Given the description of an element on the screen output the (x, y) to click on. 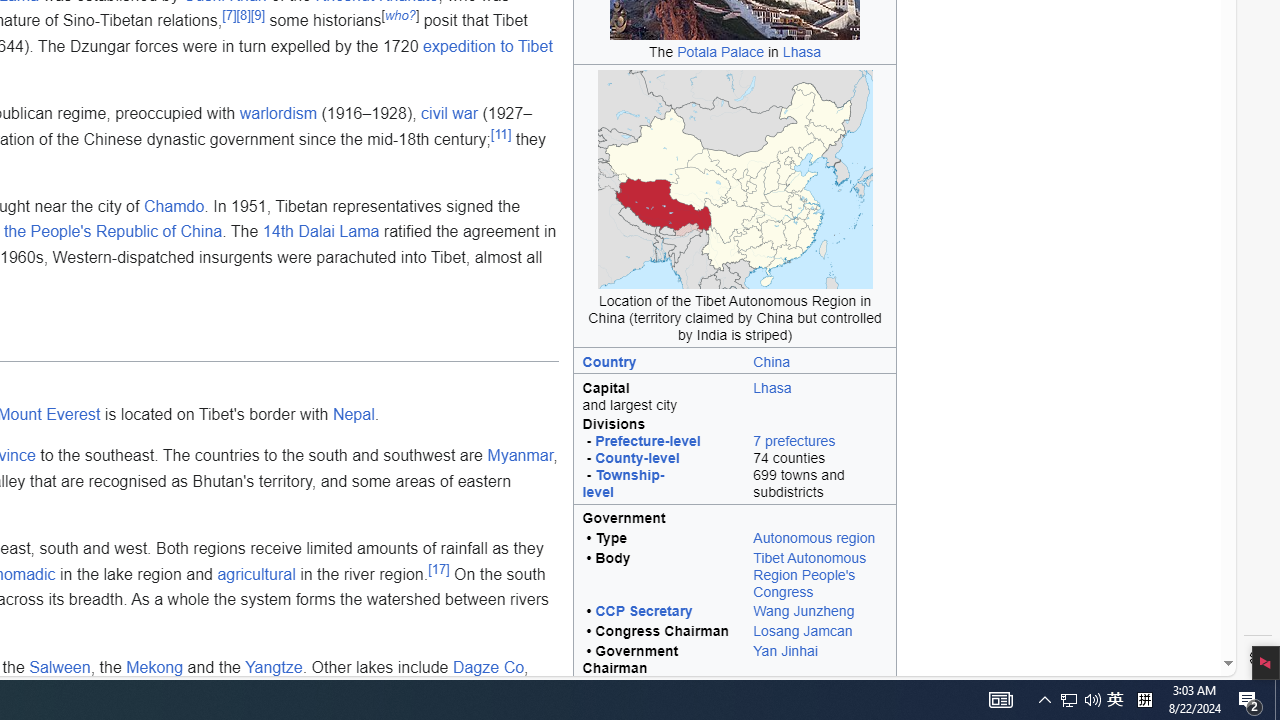
Yan Jinhai (784, 650)
Township- level (623, 483)
[8] (242, 15)
Wang Junzheng (820, 612)
Country (609, 361)
Salween (59, 667)
Wang Junzheng (803, 611)
Yan Jinhai (820, 660)
[9] (256, 15)
Prefecture-level (648, 441)
Dagze Co (487, 667)
14th Dalai Lama (321, 232)
